Given the description of an element on the screen output the (x, y) to click on. 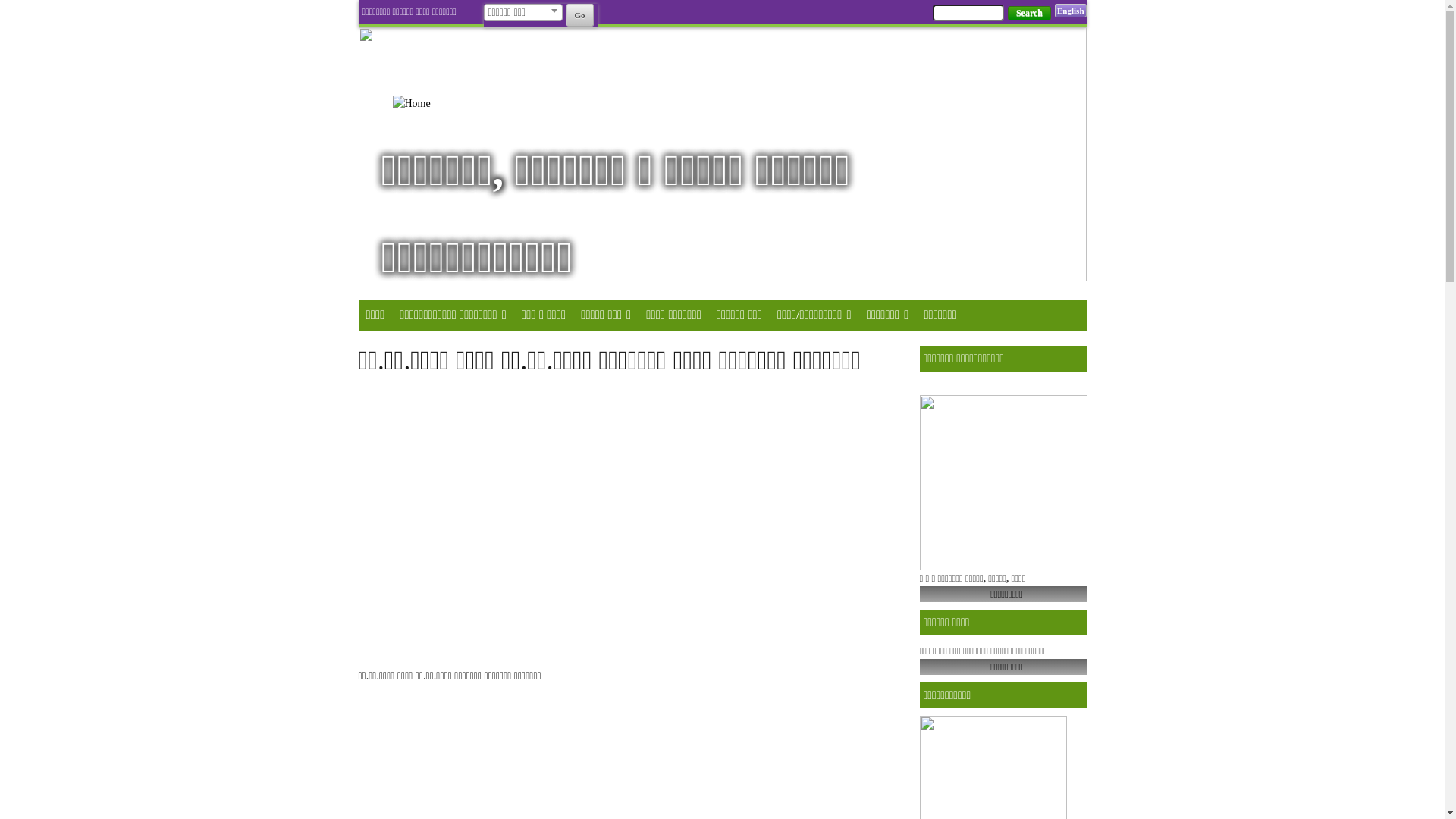
Home Element type: hover (431, 103)
English Element type: text (1069, 10)
2021-06-28-13-57-477bb314a8187099959130b7070a2b50 Element type: hover (721, 154)
Search Element type: text (1029, 13)
Go Element type: text (579, 14)
